Given the description of an element on the screen output the (x, y) to click on. 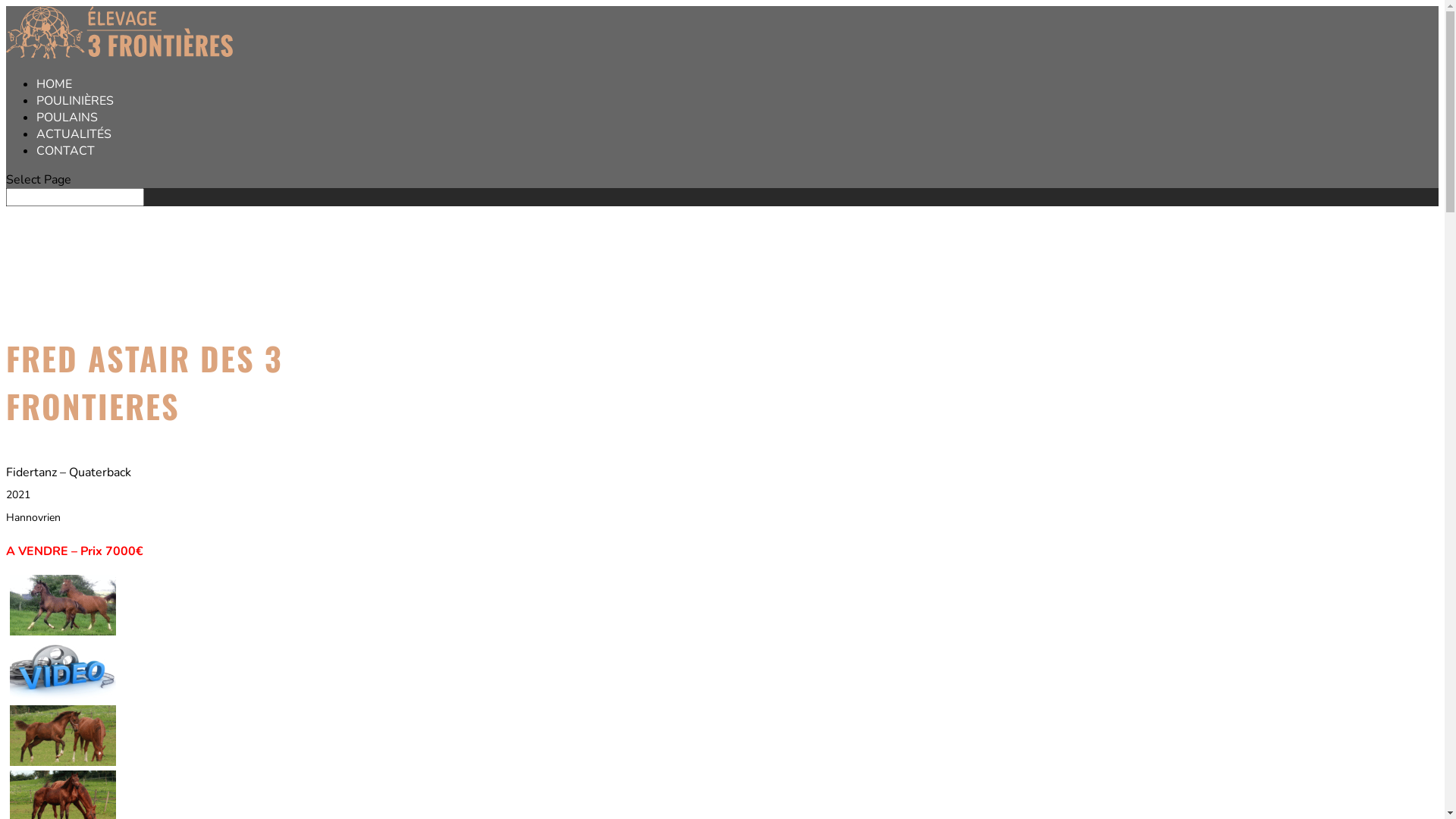
Search for: Element type: hover (75, 197)
POULAINS Element type: text (66, 117)
HOME Element type: text (54, 83)
CONTACT Element type: text (65, 150)
